Given the description of an element on the screen output the (x, y) to click on. 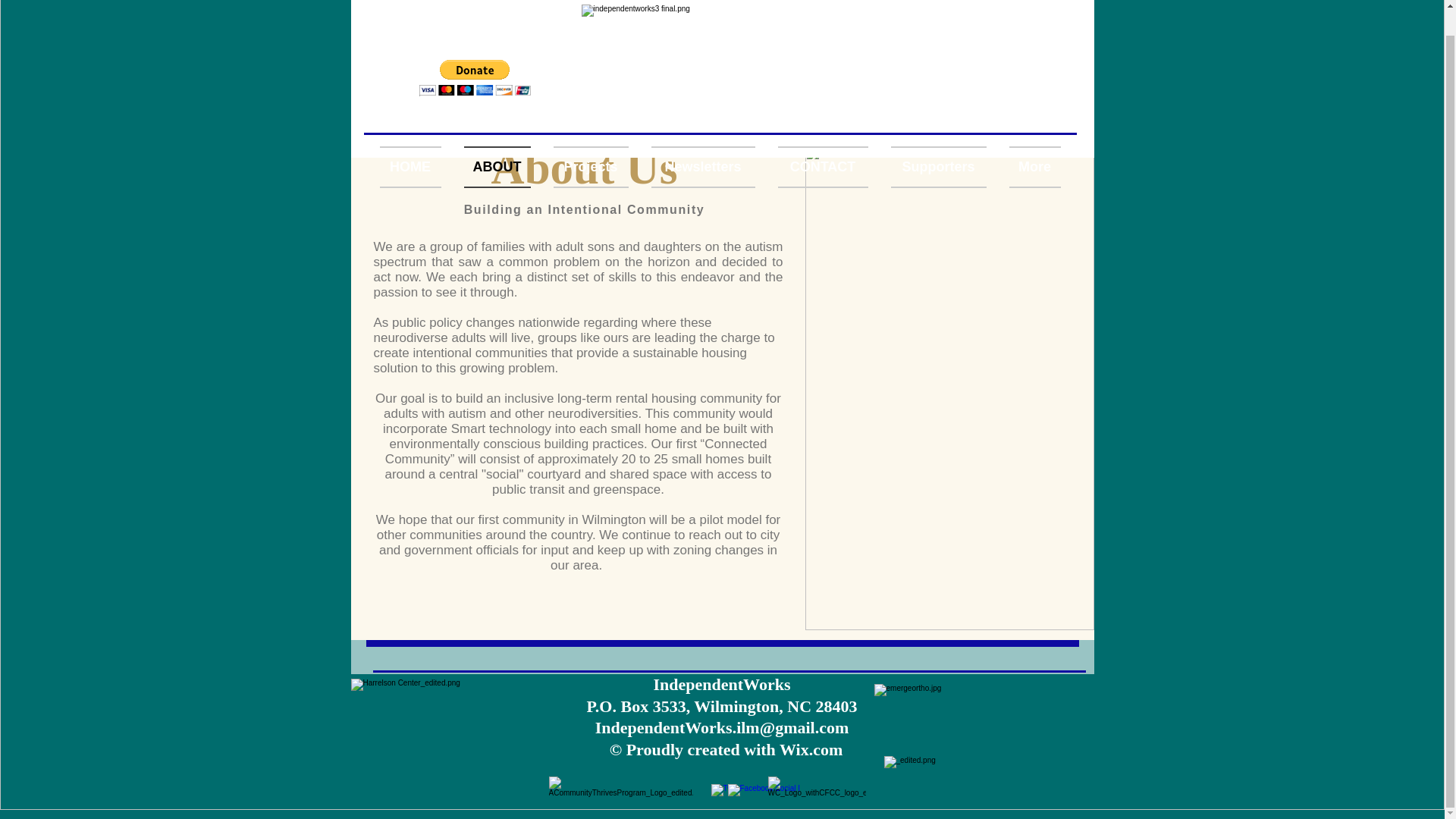
CONTACT (822, 141)
HOME (414, 141)
ABOUT (496, 141)
Newsletters (703, 141)
Projects (590, 141)
Wix.com (810, 749)
Supporters (938, 141)
